Given the description of an element on the screen output the (x, y) to click on. 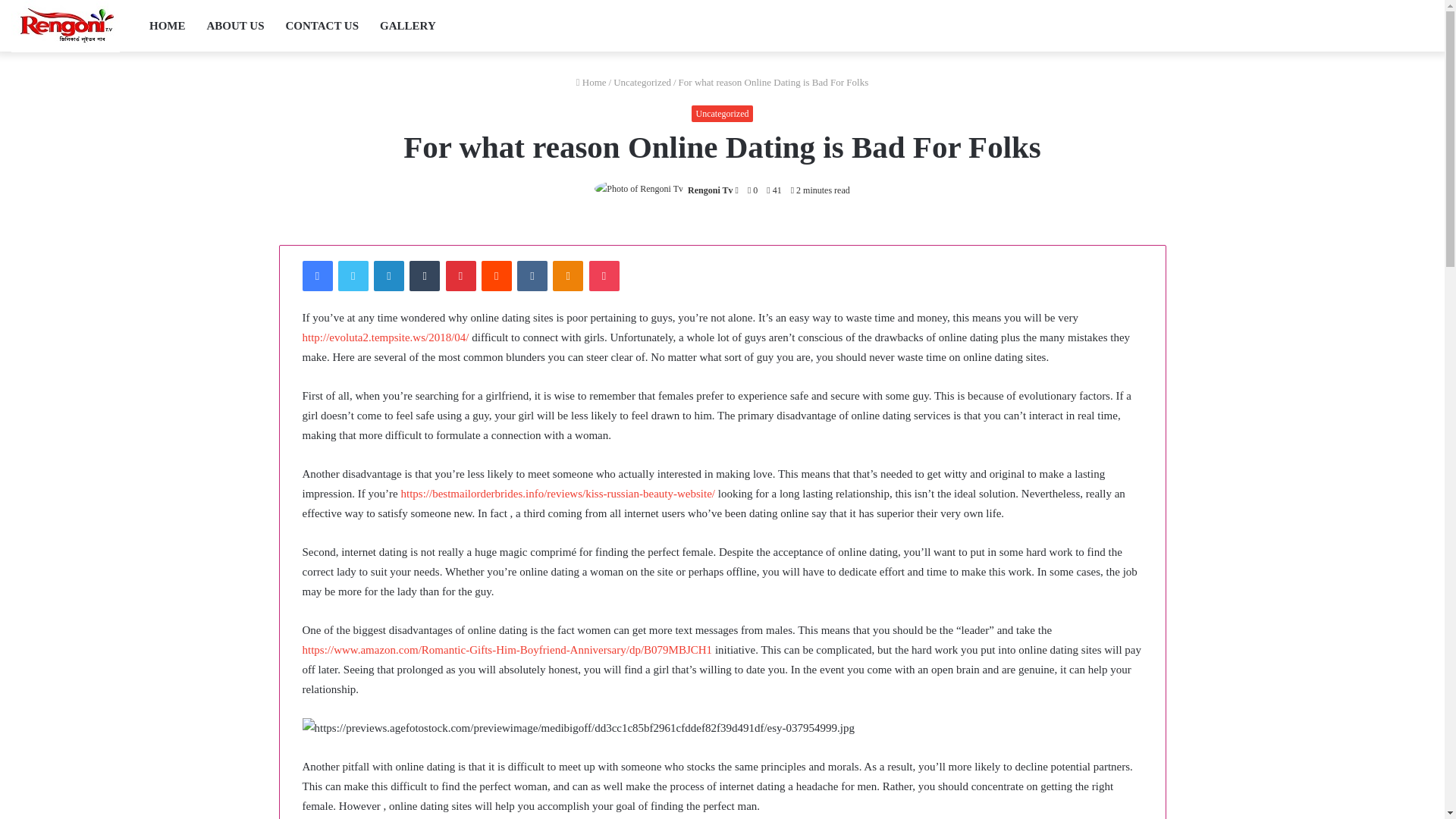
CONTACT US (322, 25)
Pocket (603, 276)
Tumblr (424, 276)
Home (591, 81)
LinkedIn (389, 276)
Facebook (316, 276)
Reddit (496, 276)
Pocket (603, 276)
HOME (167, 25)
VKontakte (531, 276)
